Given the description of an element on the screen output the (x, y) to click on. 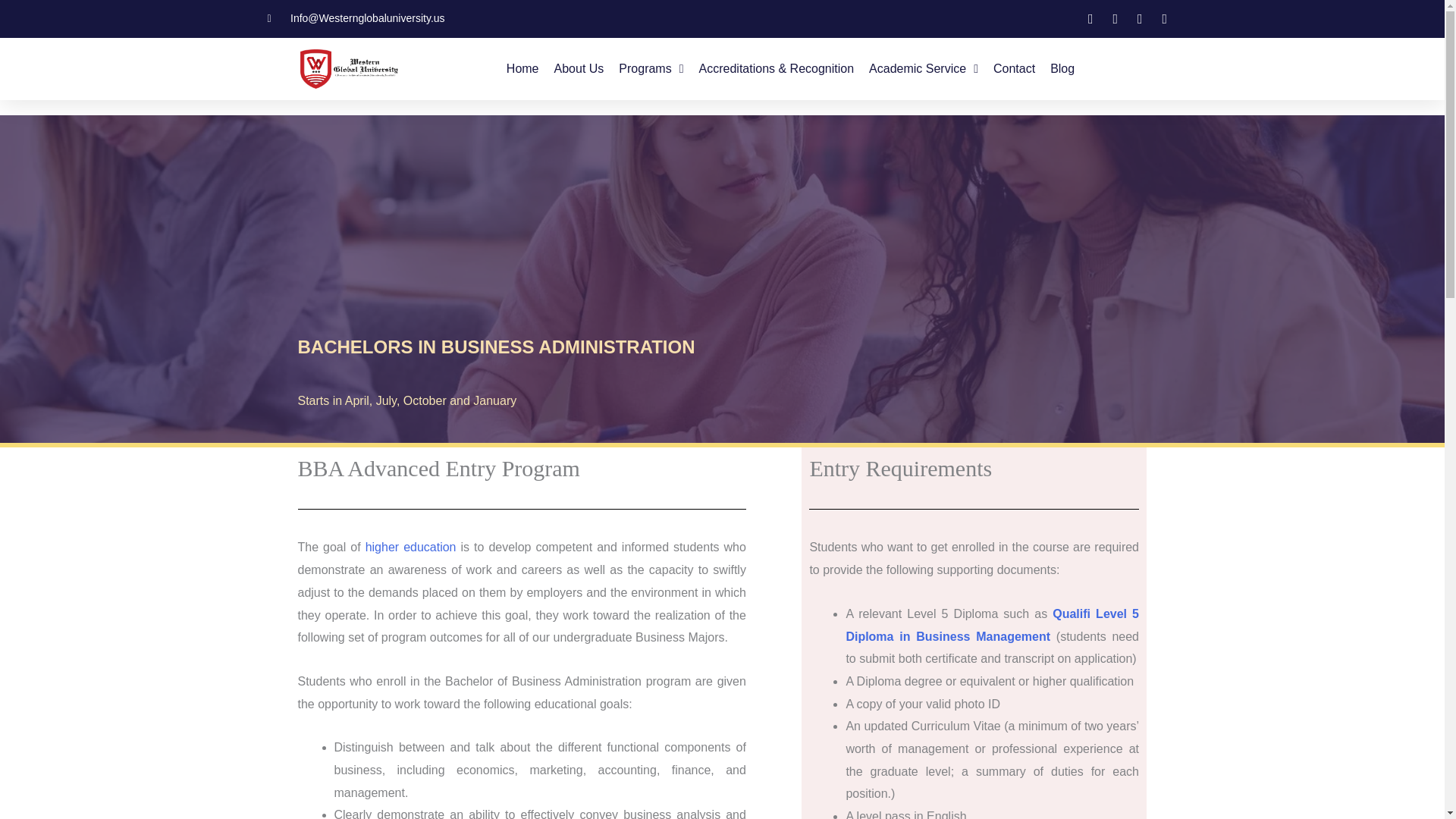
About Us (579, 68)
Home (522, 68)
Programs (650, 68)
